Given the description of an element on the screen output the (x, y) to click on. 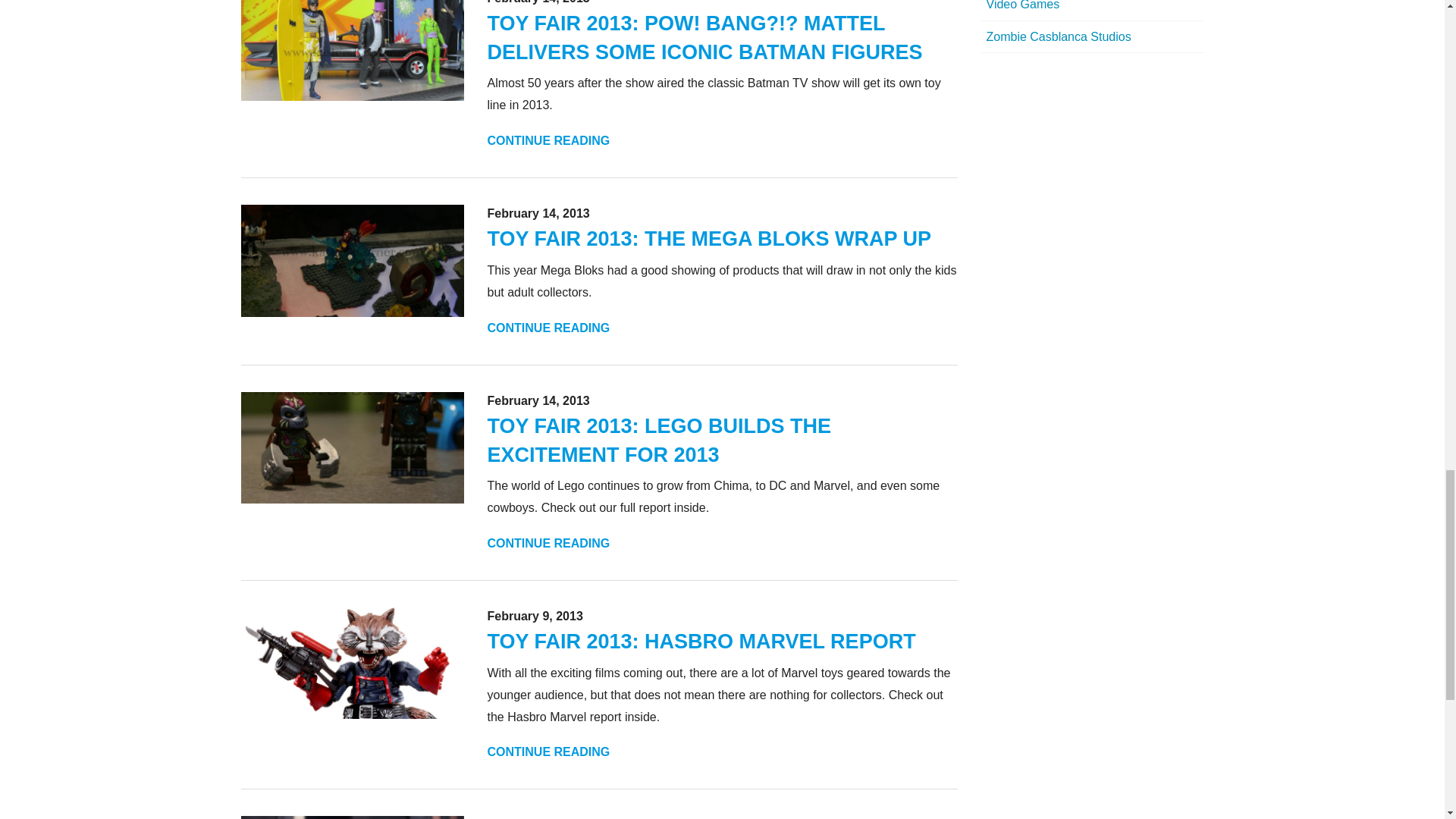
CONTINUE READING (548, 140)
TOY FAIR 2013: THE MEGA BLOKS WRAP UP (708, 238)
